Given the description of an element on the screen output the (x, y) to click on. 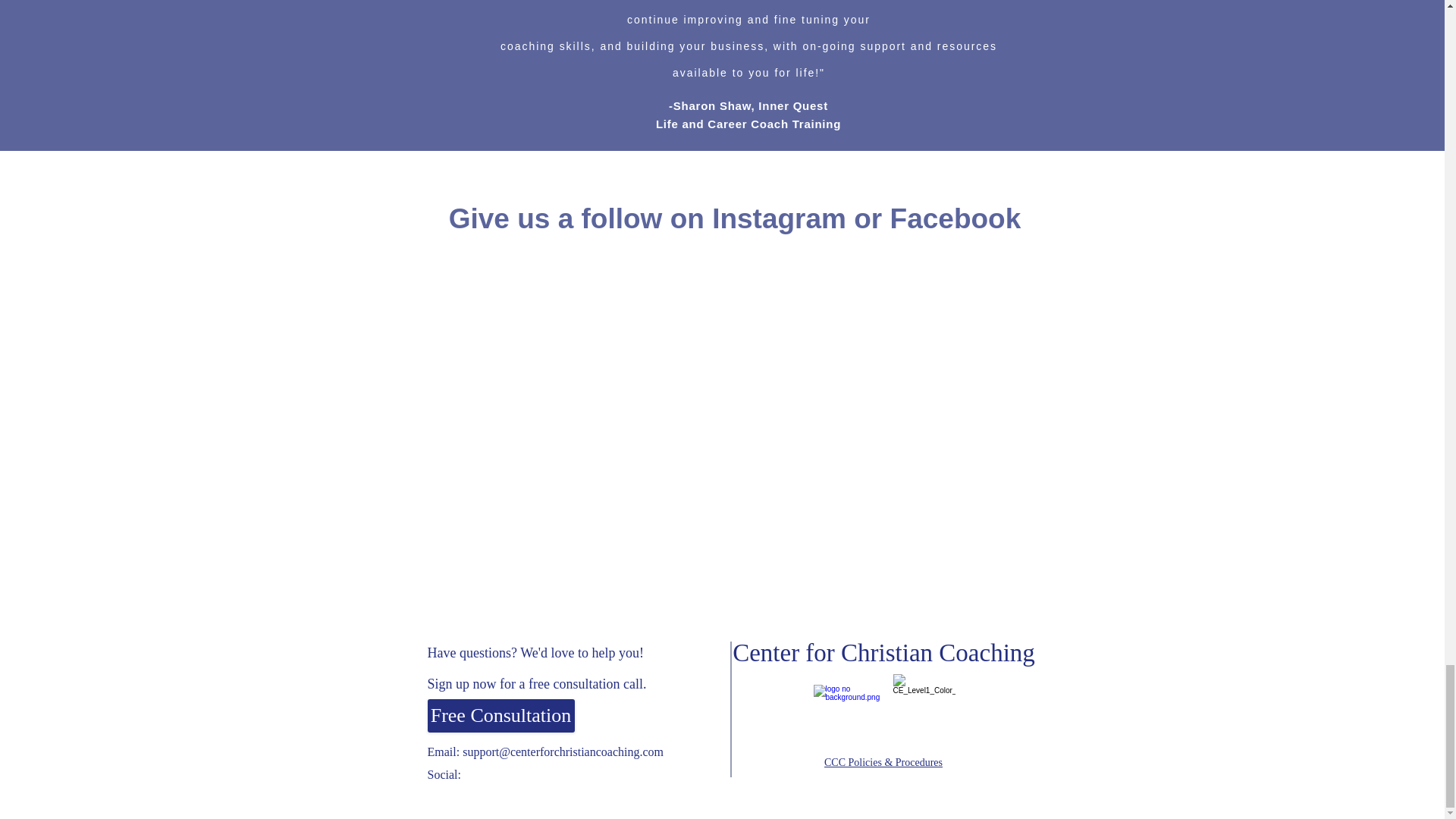
Free Consultation (501, 715)
